Given the description of an element on the screen output the (x, y) to click on. 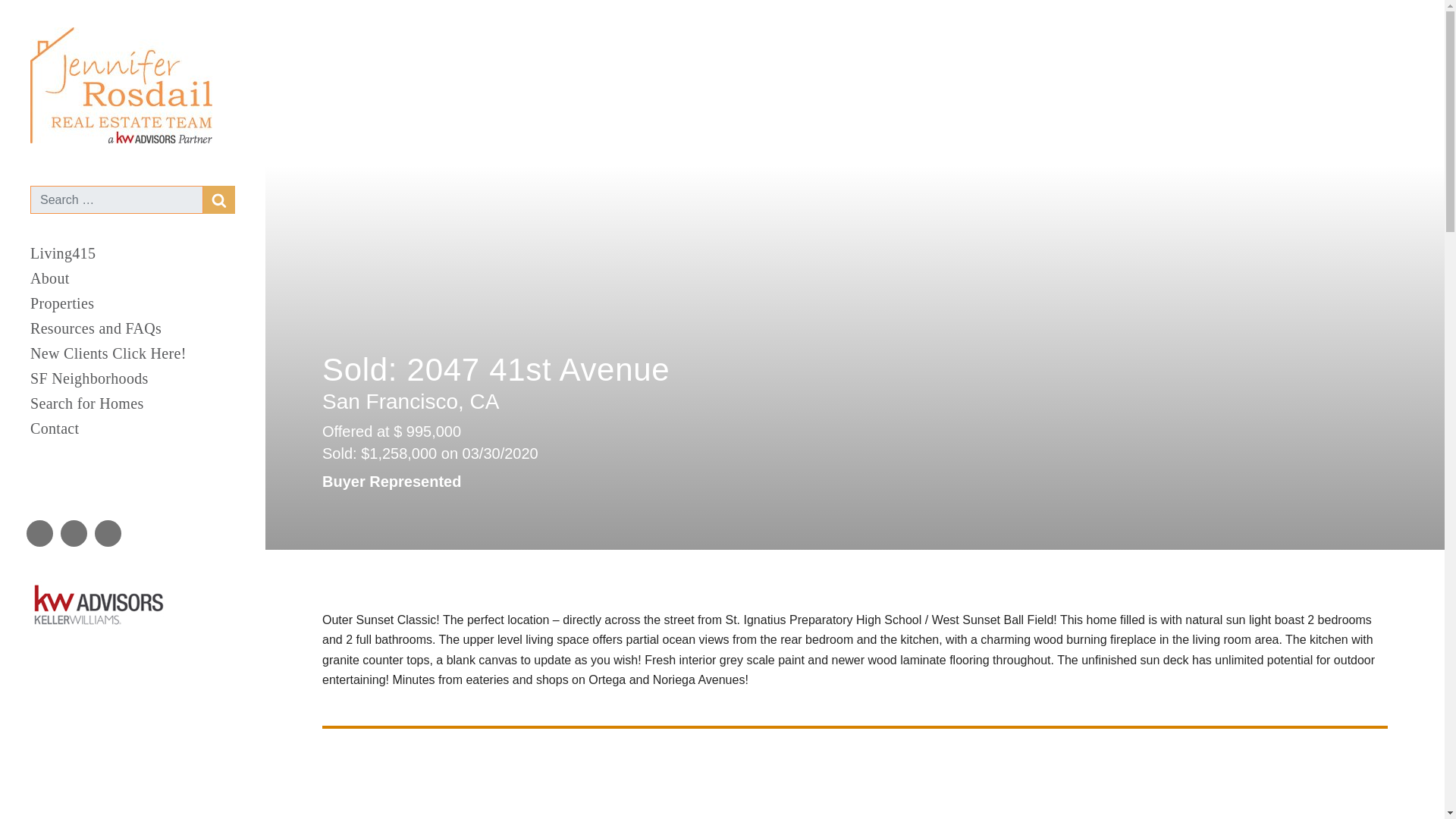
Properties (132, 303)
Living415 (132, 253)
SF Neighborhoods (132, 378)
Contact (132, 428)
New Clients Click Here! (132, 353)
Resources and FAQs (132, 328)
Twitter (73, 533)
415-269-4663 (77, 480)
Search for Homes (132, 403)
About (132, 278)
